Given the description of an element on the screen output the (x, y) to click on. 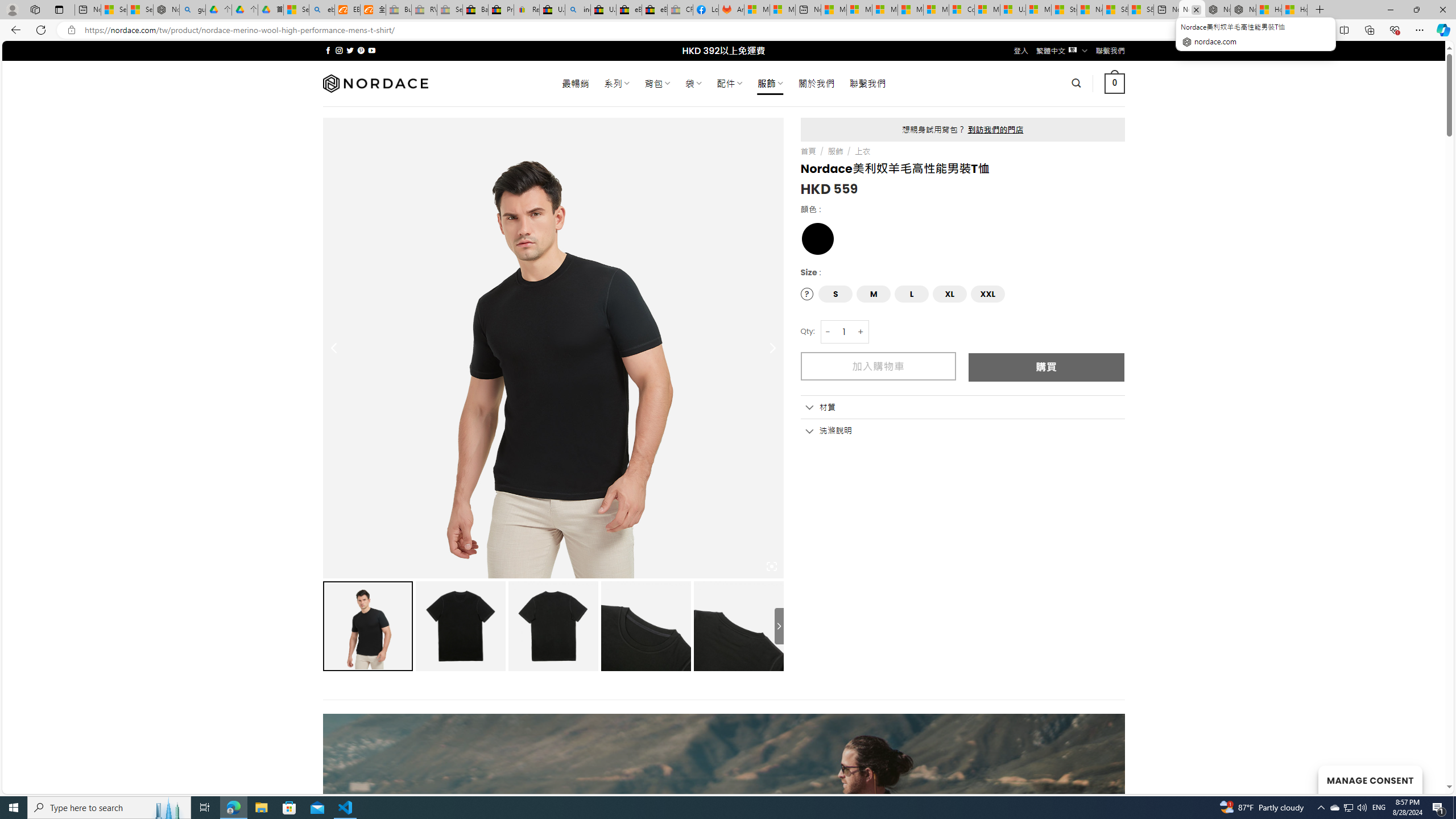
 0  (1115, 83)
U.S. State Privacy Disclosures - eBay Inc. (603, 9)
Nordace (374, 83)
Consumer Health Data Privacy Policy (961, 9)
View site information (70, 29)
Add this page to favorites (Ctrl+D) (1314, 29)
